Given the description of an element on the screen output the (x, y) to click on. 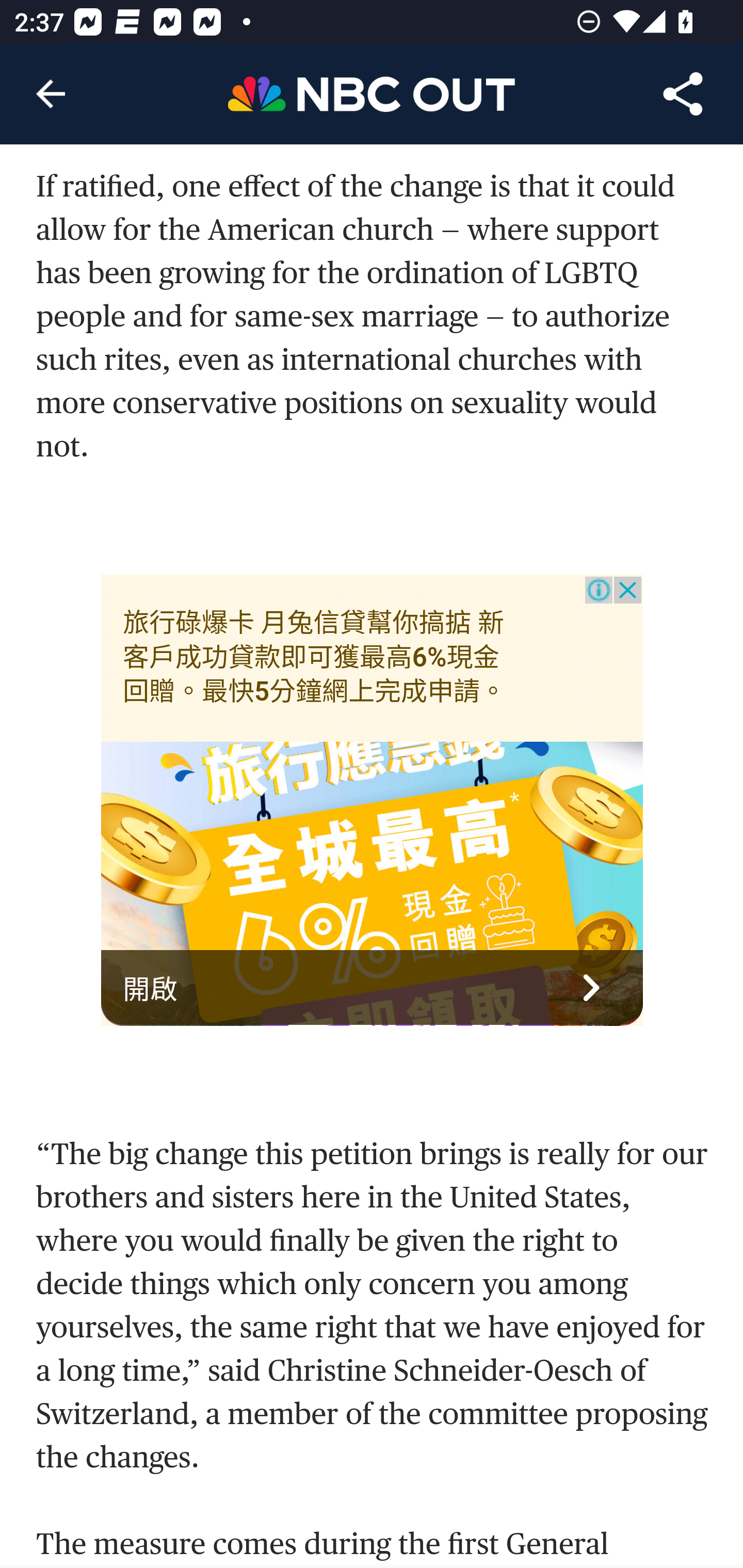
Navigate up (50, 93)
Share Article, button (683, 94)
Header, NBC Out (371, 93)
開啟 (372, 988)
